Given the description of an element on the screen output the (x, y) to click on. 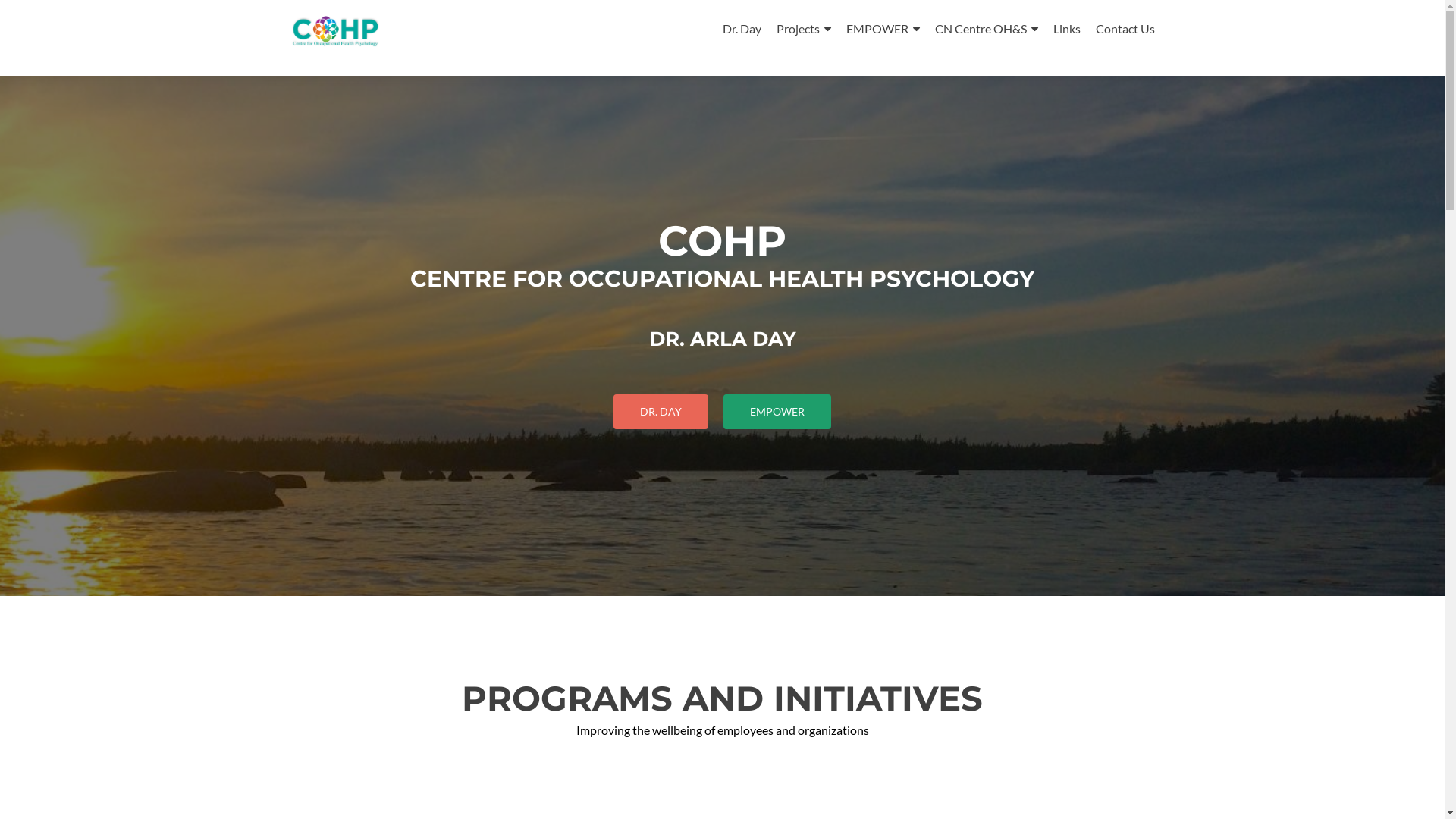
EMPOWER Element type: text (882, 28)
CN Centre OH&S Element type: text (985, 28)
EMPOWER Element type: text (777, 411)
Projects Element type: text (803, 28)
Links Element type: text (1065, 28)
DR. DAY Element type: text (660, 411)
Dr. Day Element type: text (740, 28)
Contact Us Element type: text (1124, 28)
